Given the description of an element on the screen output the (x, y) to click on. 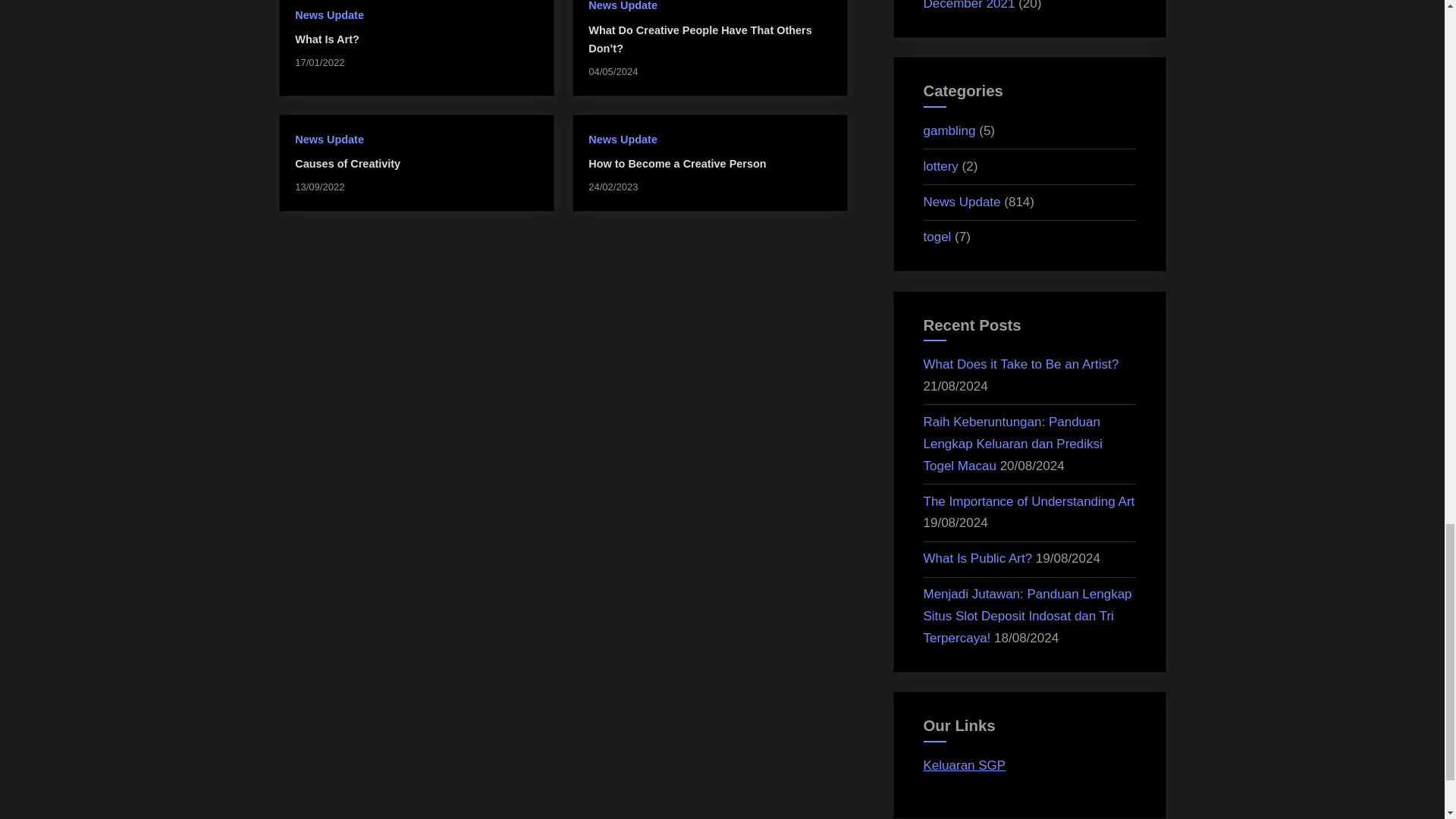
News Update (329, 15)
News Update (623, 139)
How to Become a Creative Person (676, 163)
Causes of Creativity (347, 163)
What Is Art? (326, 39)
News Update (623, 5)
News Update (329, 139)
